Given the description of an element on the screen output the (x, y) to click on. 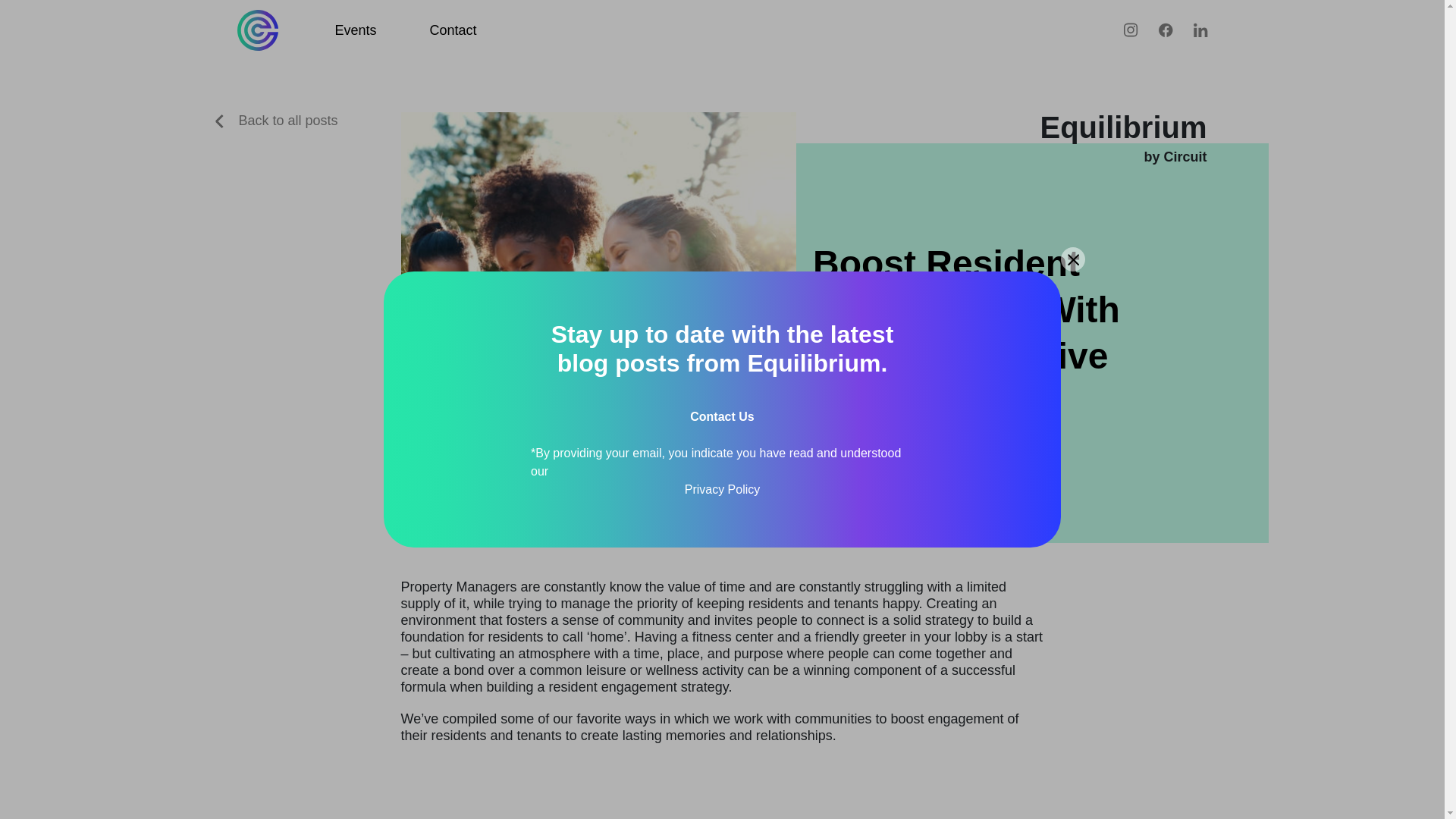
Events (355, 29)
Privacy Policy (722, 489)
Contact (453, 29)
Contact Us (722, 416)
Back to all posts (276, 120)
